Given the description of an element on the screen output the (x, y) to click on. 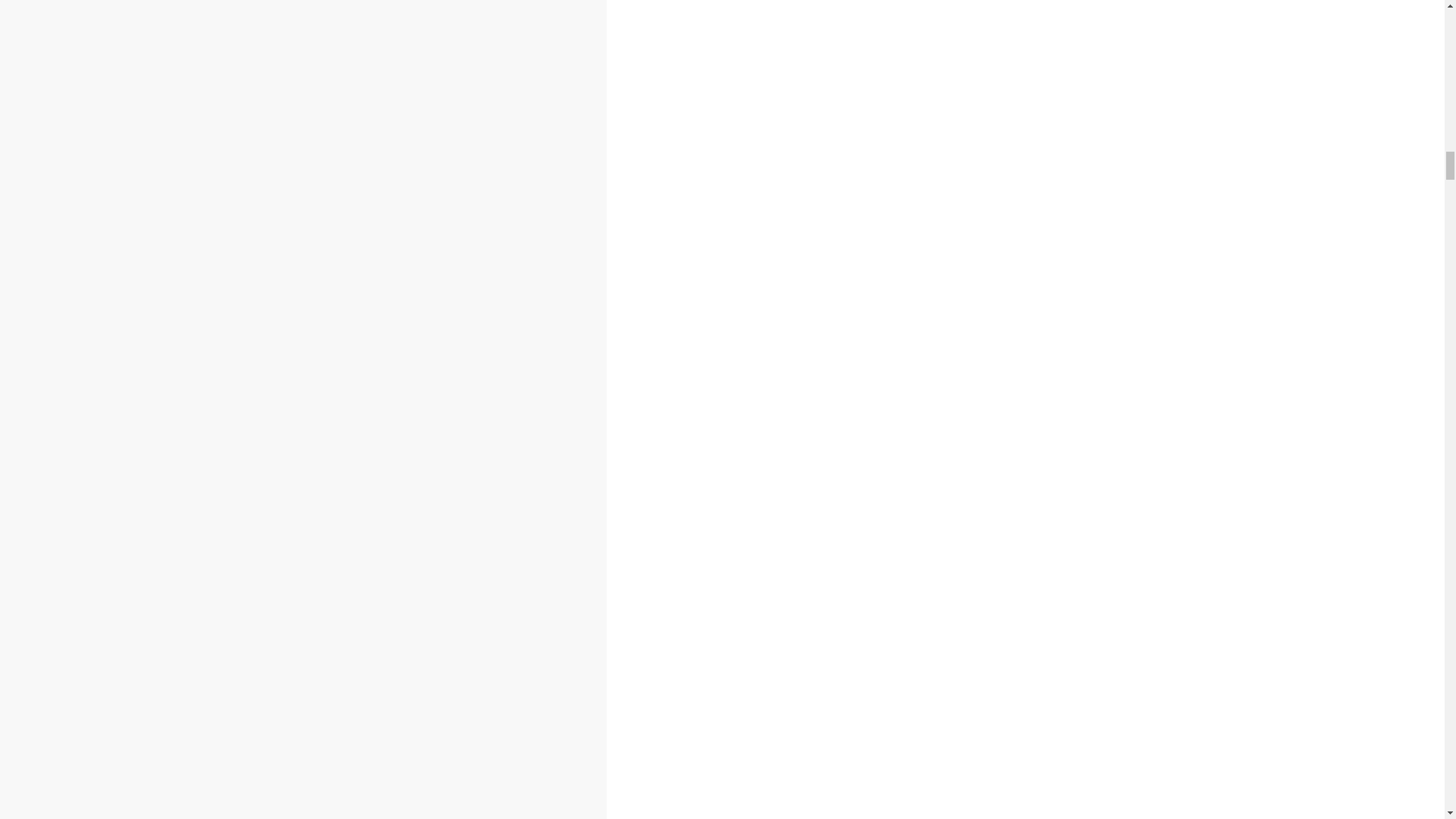
Martienarichter (201, 381)
Gambling (85, 311)
Data SGP and Its Limitations (122, 350)
